Given the description of an element on the screen output the (x, y) to click on. 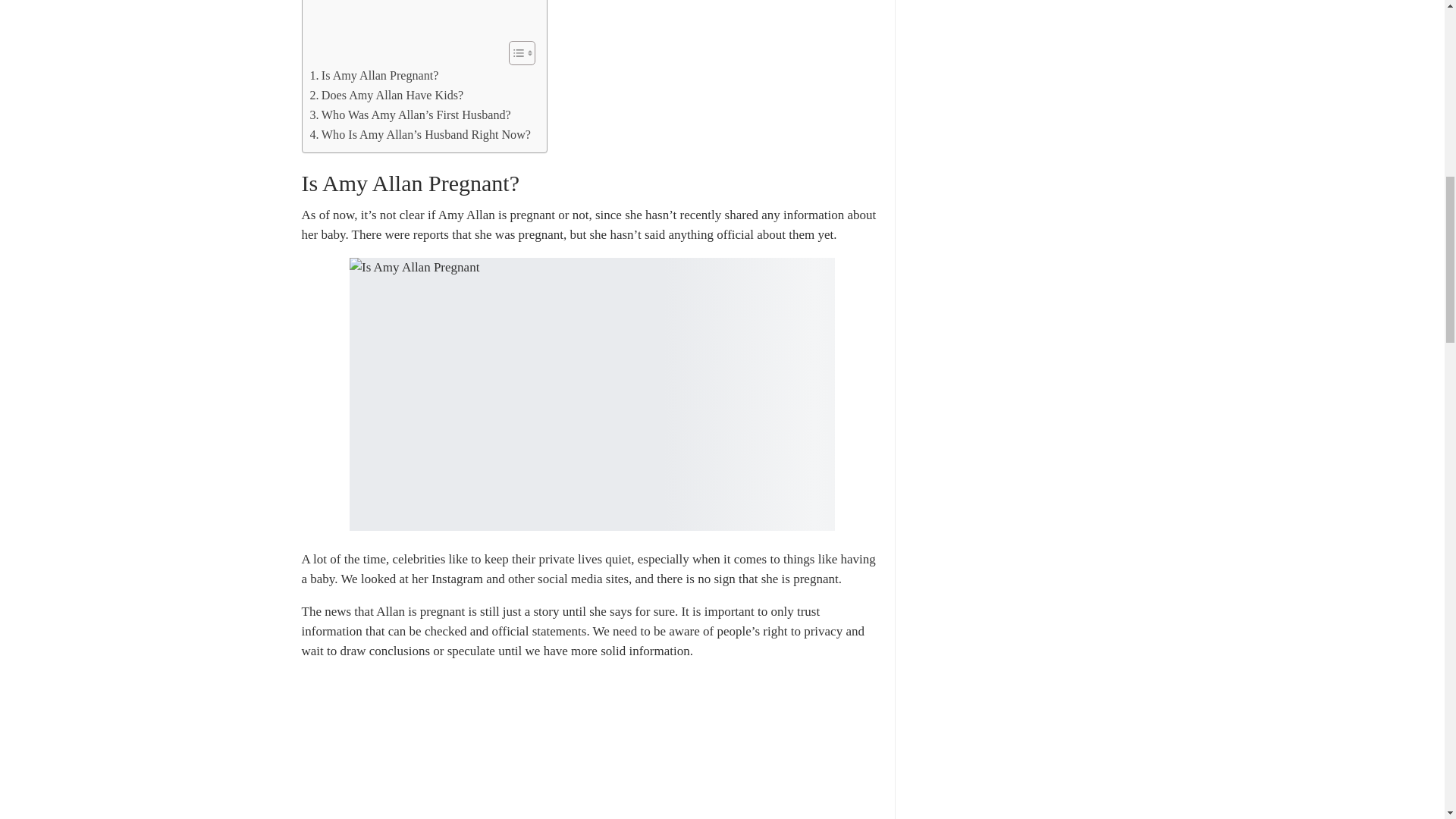
Does Amy Allan Have Kids? (385, 95)
Does Amy Allan Have Kids? (385, 95)
Is Amy Allan Pregnant? (373, 75)
Is Amy Allan Pregnant? (373, 75)
